Given the description of an element on the screen output the (x, y) to click on. 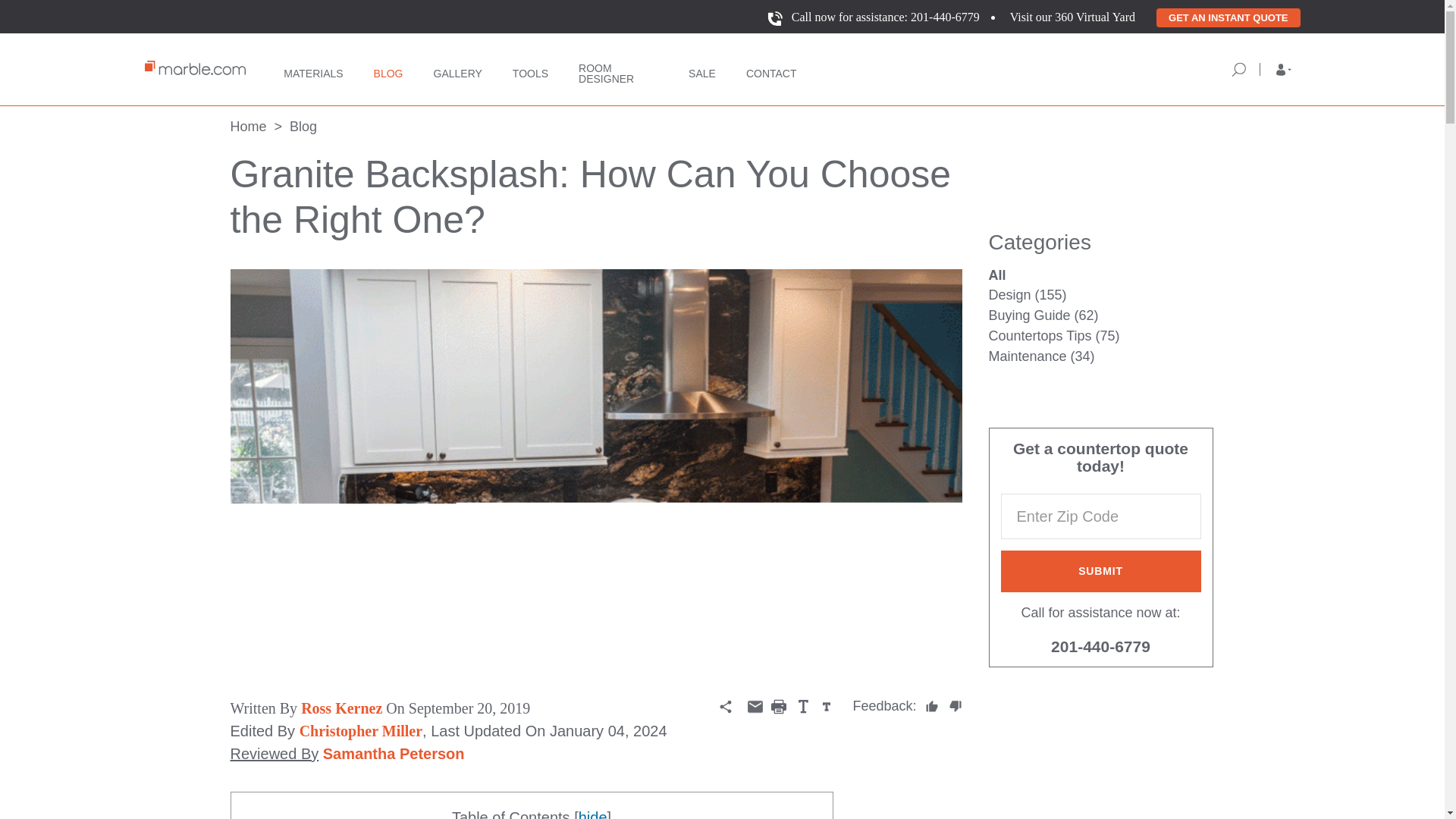
Share this article (725, 706)
ROOM DESIGNER (618, 68)
Call now for assistance: 201-440-6779 (885, 16)
GET AN INSTANT QUOTE (1228, 17)
MATERIALS (312, 69)
CONTACT (770, 69)
Visit our 360 Virtual Yard (1072, 16)
GALLERY (457, 69)
